Given the description of an element on the screen output the (x, y) to click on. 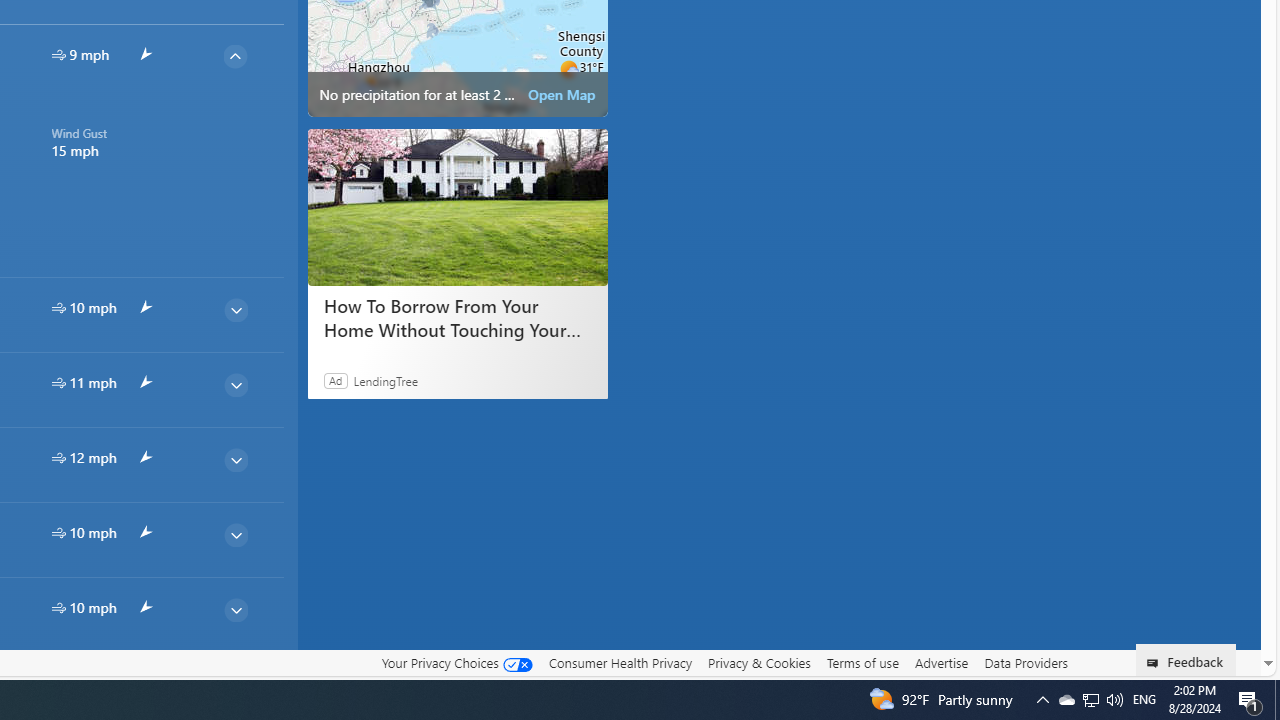
Terms of use (861, 663)
Advertise (940, 663)
Your Privacy Choices (456, 663)
hourlyTable/wind (58, 607)
Data Providers (1025, 663)
Terms of use (861, 662)
Open Map (561, 94)
